Given the description of an element on the screen output the (x, y) to click on. 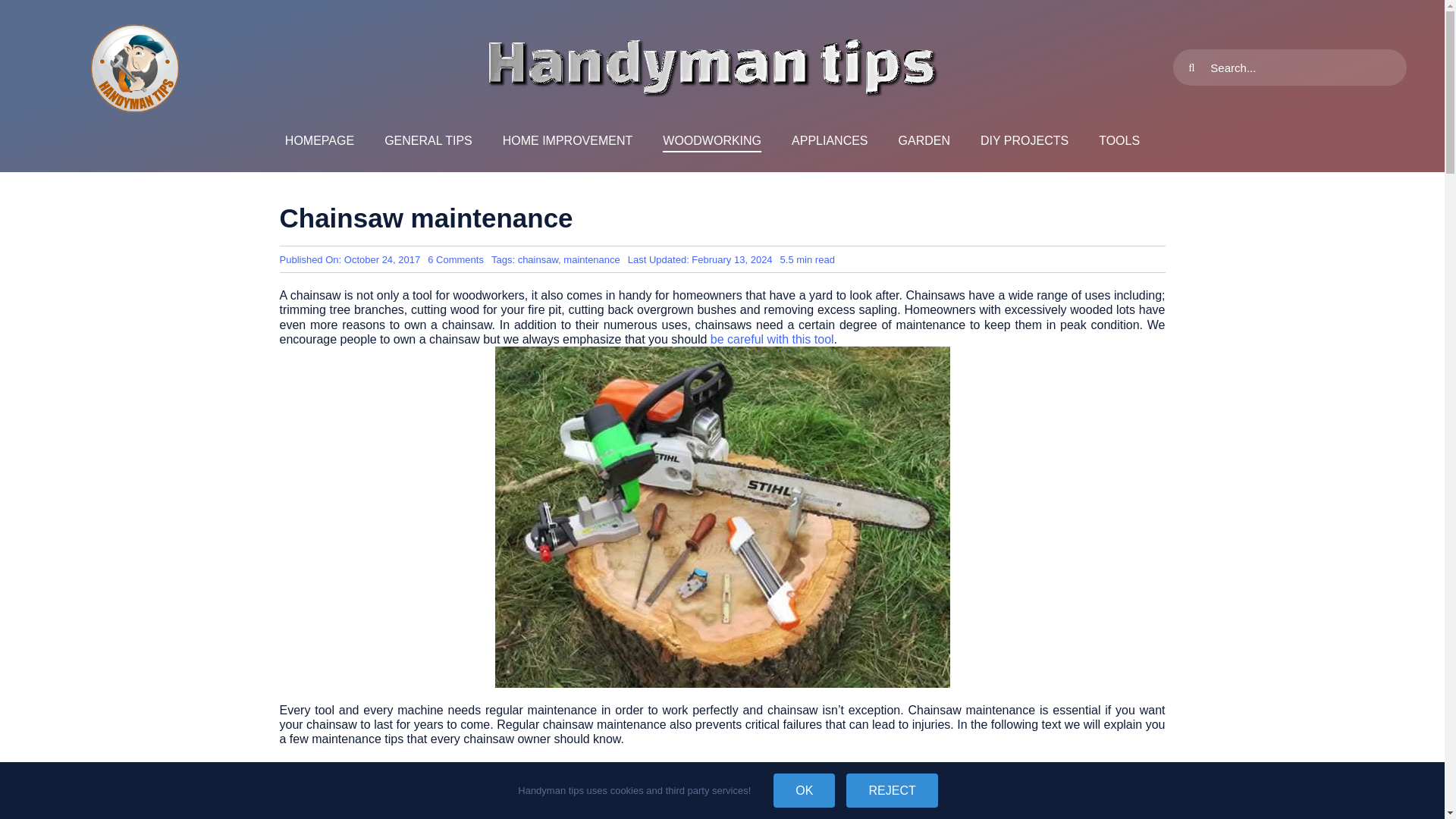
maintenance (591, 259)
HOMEPAGE (319, 141)
TOOLS (455, 259)
DIY PROJECTS (1119, 141)
APPLIANCES (1023, 141)
handyman tips text (829, 141)
Handyman tips logo trans (711, 67)
GENERAL TIPS (134, 67)
chainsaw (427, 141)
be careful with this tool (537, 259)
WOODWORKING (772, 338)
HOME IMPROVEMENT (711, 141)
GARDEN (567, 141)
